Given the description of an element on the screen output the (x, y) to click on. 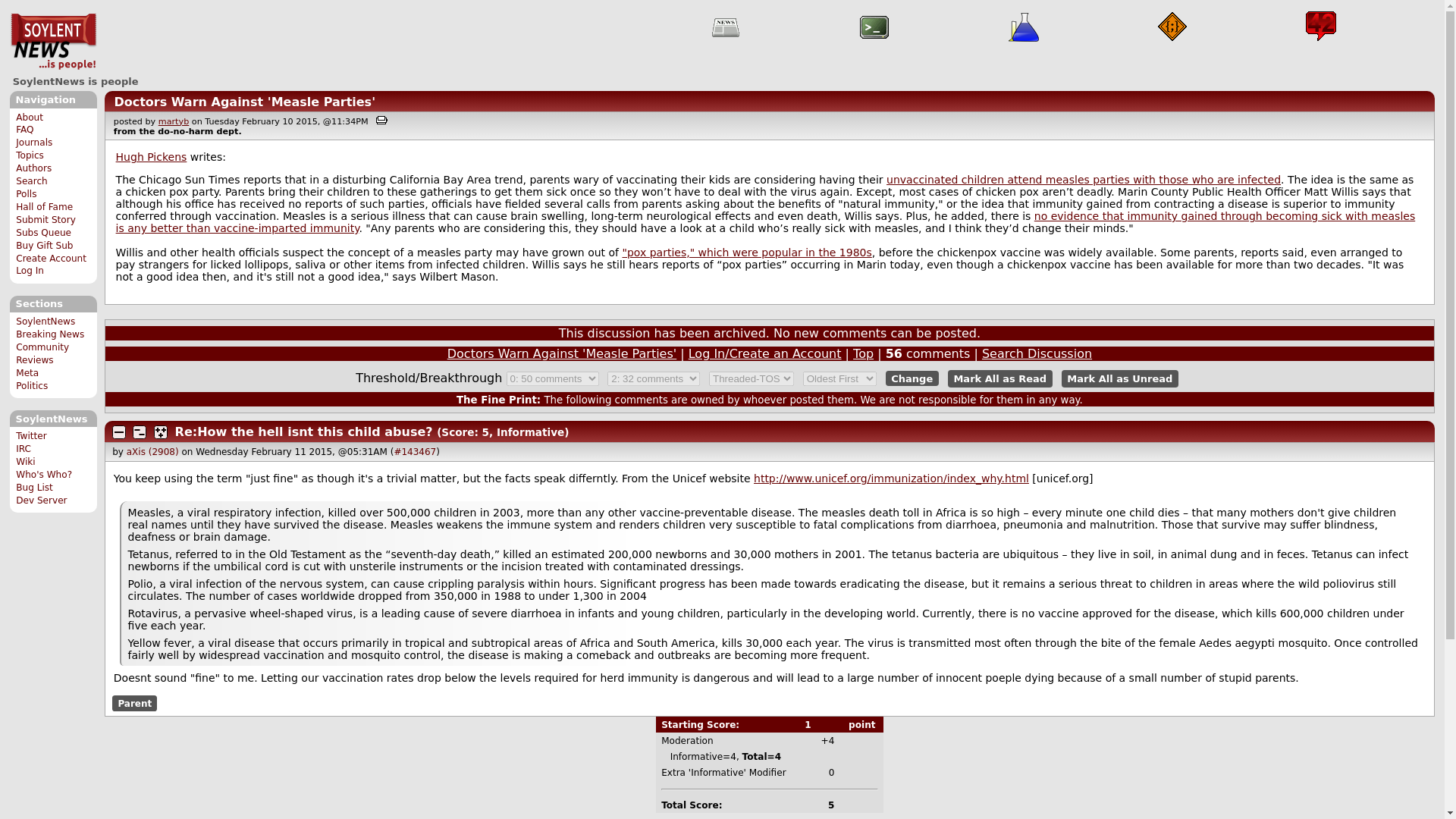
OS (874, 26)
Authors (33, 167)
Community Reviews (42, 353)
Breaking News (50, 334)
Politics (32, 385)
Dev Server (41, 500)
Polls (26, 194)
Wiki (25, 461)
"pox parties," which were popular in the 1980s (745, 252)
Twitter (31, 435)
Create Account (50, 258)
Bug List (34, 487)
Hall of Fame (44, 206)
Subs Queue (43, 232)
